Given the description of an element on the screen output the (x, y) to click on. 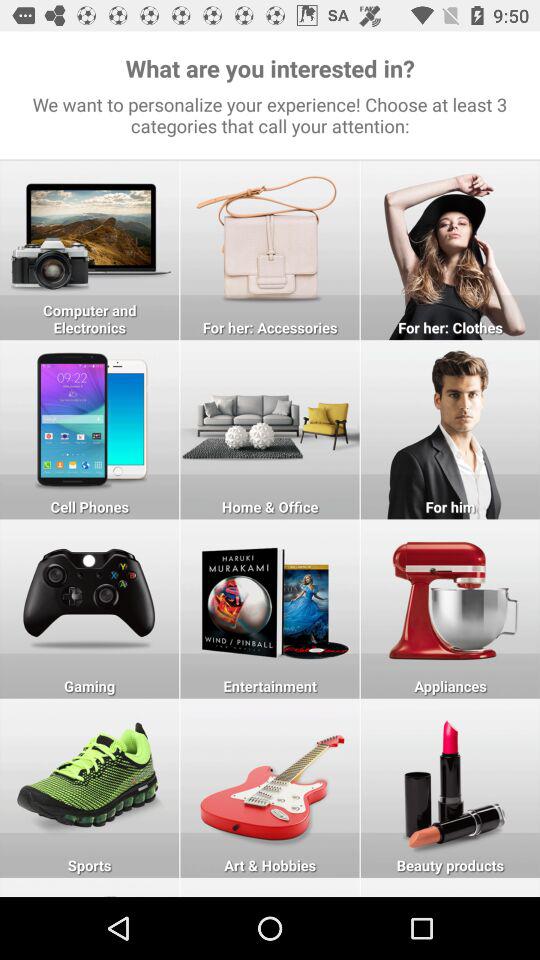
select the accessories (269, 250)
